Given the description of an element on the screen output the (x, y) to click on. 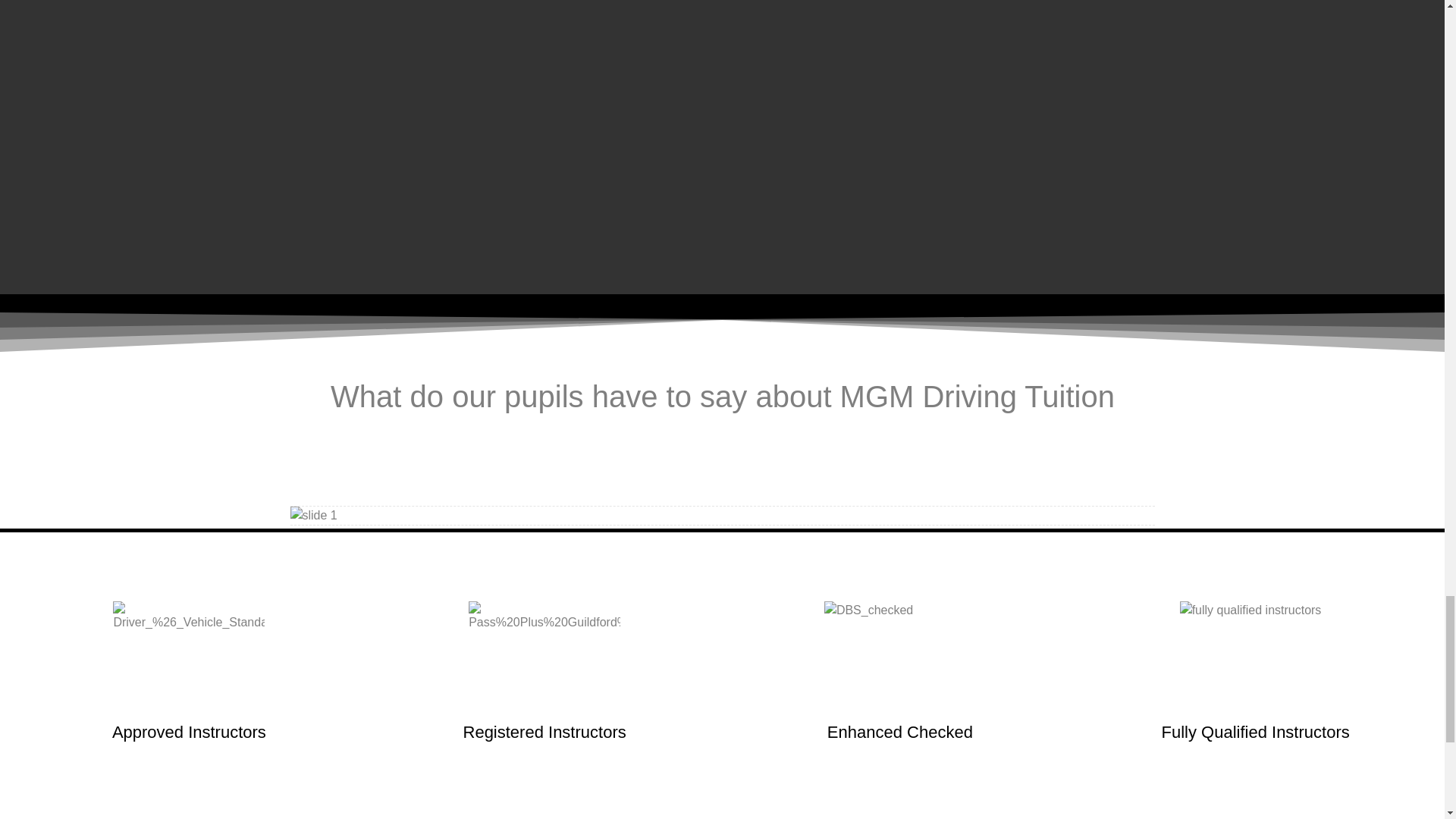
Book Now (722, 12)
